Given the description of an element on the screen output the (x, y) to click on. 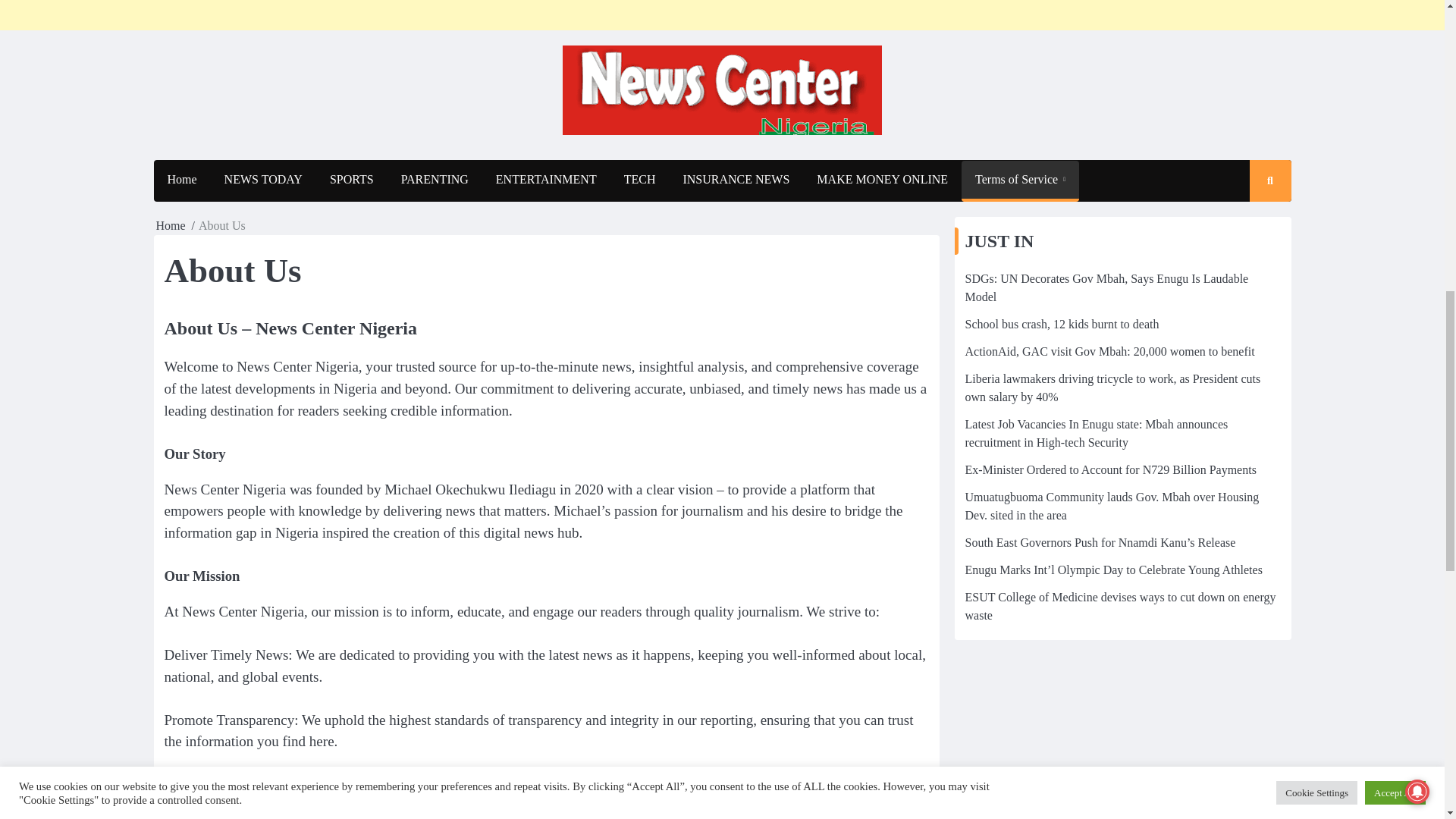
Home (170, 225)
ENTERTAINMENT (545, 179)
School bus crash, 12 kids burnt to death (1060, 323)
INSURANCE NEWS (735, 179)
Search (1256, 224)
SDGs: UN Decorates Gov Mbah, Says Enugu Is Laudable Model (1105, 287)
PARENTING (434, 179)
NEWS TODAY (263, 179)
Terms of Service (1019, 180)
Home (180, 179)
ActionAid, GAC visit Gov Mbah: 20,000 women to benefit (1108, 350)
MAKE MONEY ONLINE (881, 179)
